Given the description of an element on the screen output the (x, y) to click on. 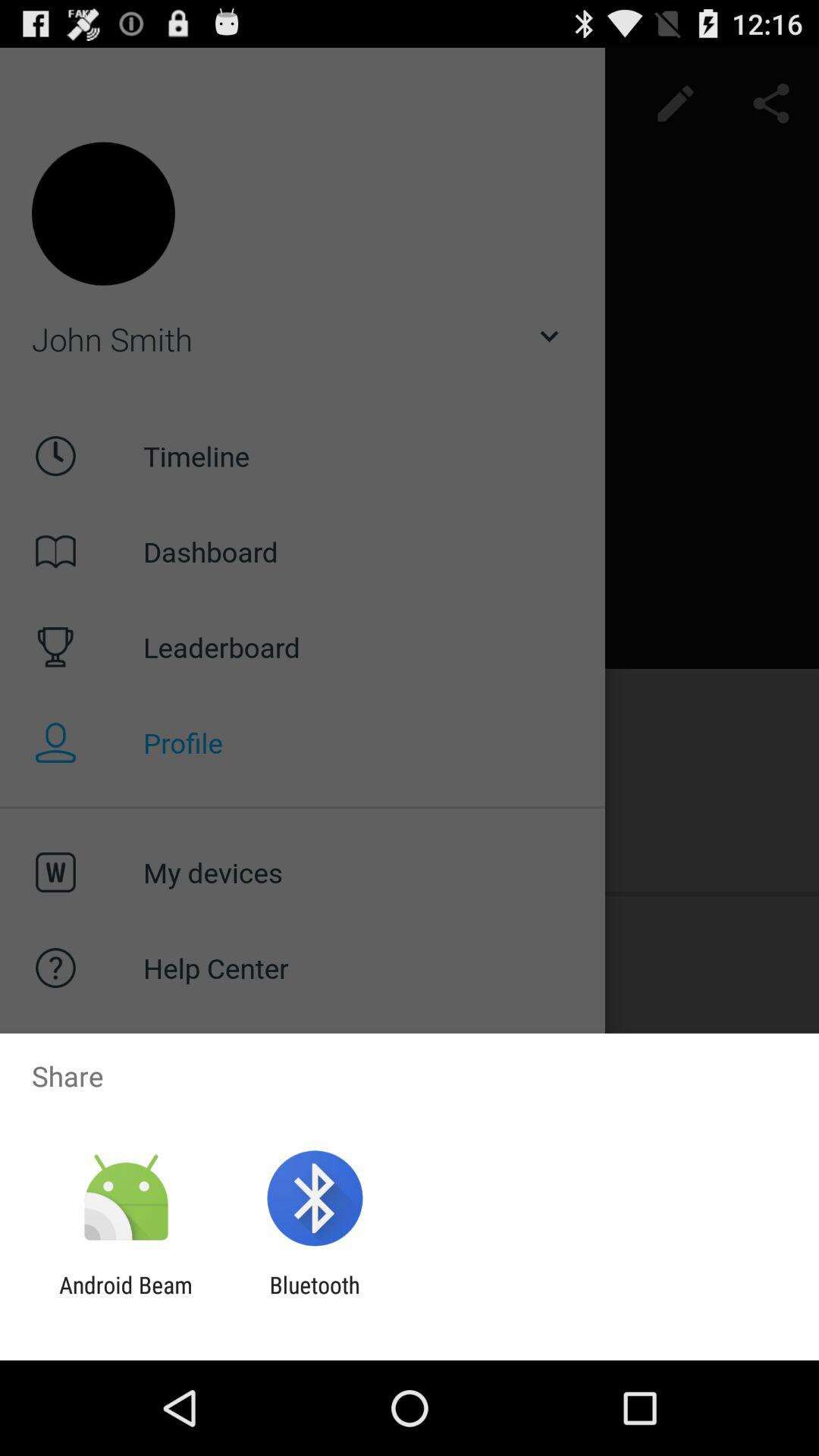
press item next to bluetooth (125, 1298)
